Given the description of an element on the screen output the (x, y) to click on. 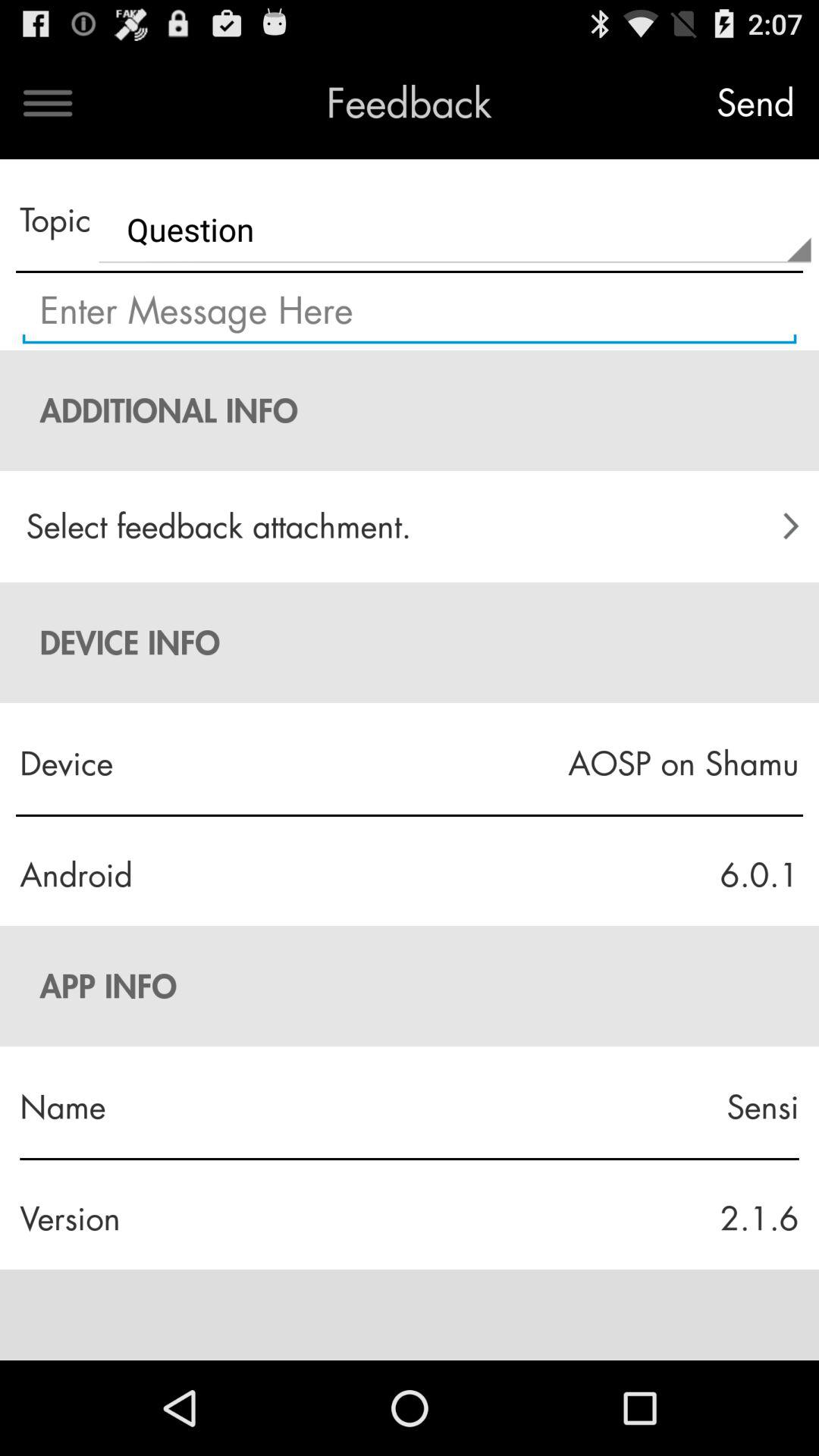
main menu (47, 103)
